Given the description of an element on the screen output the (x, y) to click on. 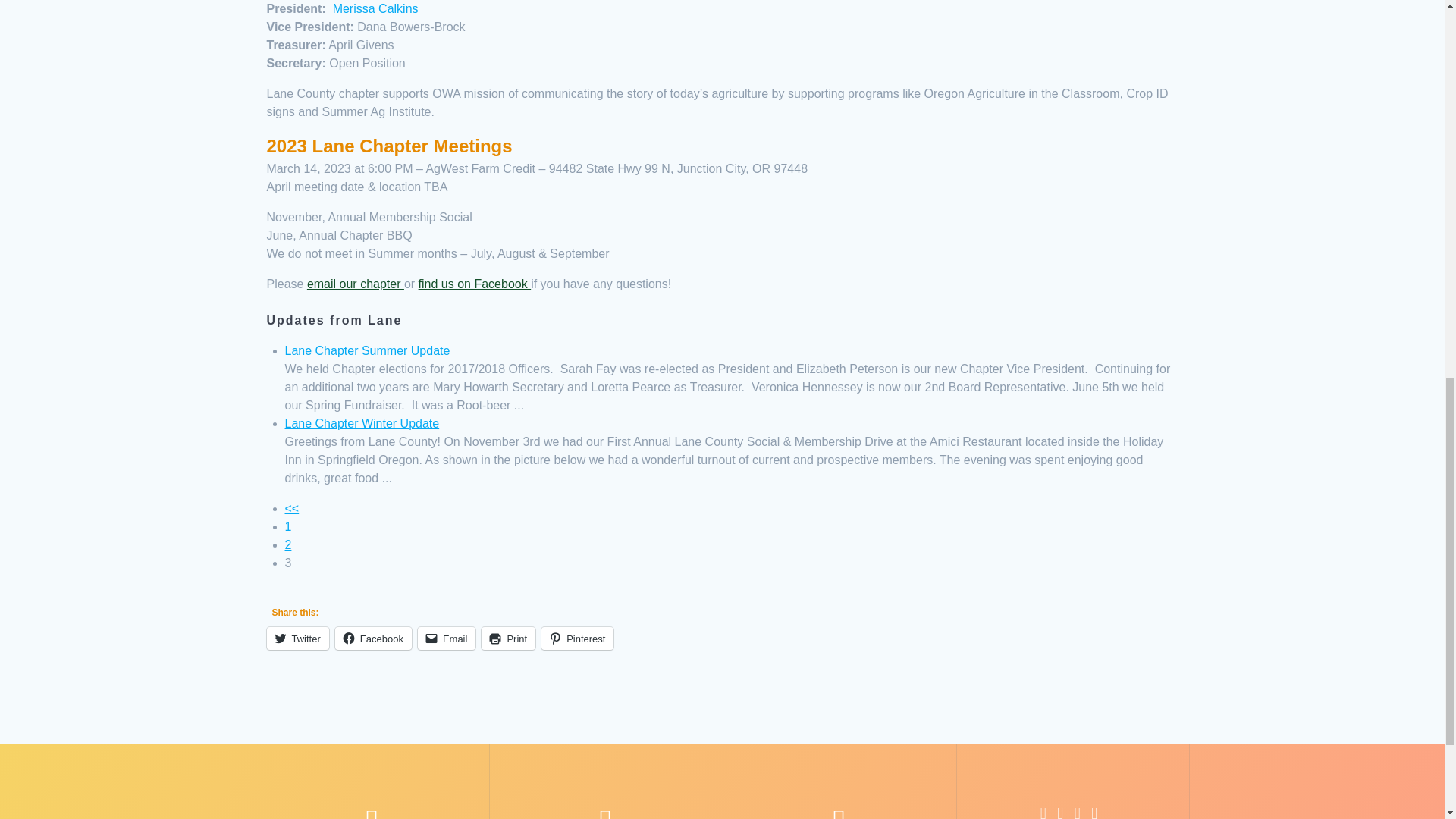
Click to share on Twitter (297, 638)
Click to share on Pinterest (576, 638)
Click to email a link to a friend (446, 638)
2 (292, 508)
Click to share on Facebook (373, 638)
Click to print (508, 638)
